Given the description of an element on the screen output the (x, y) to click on. 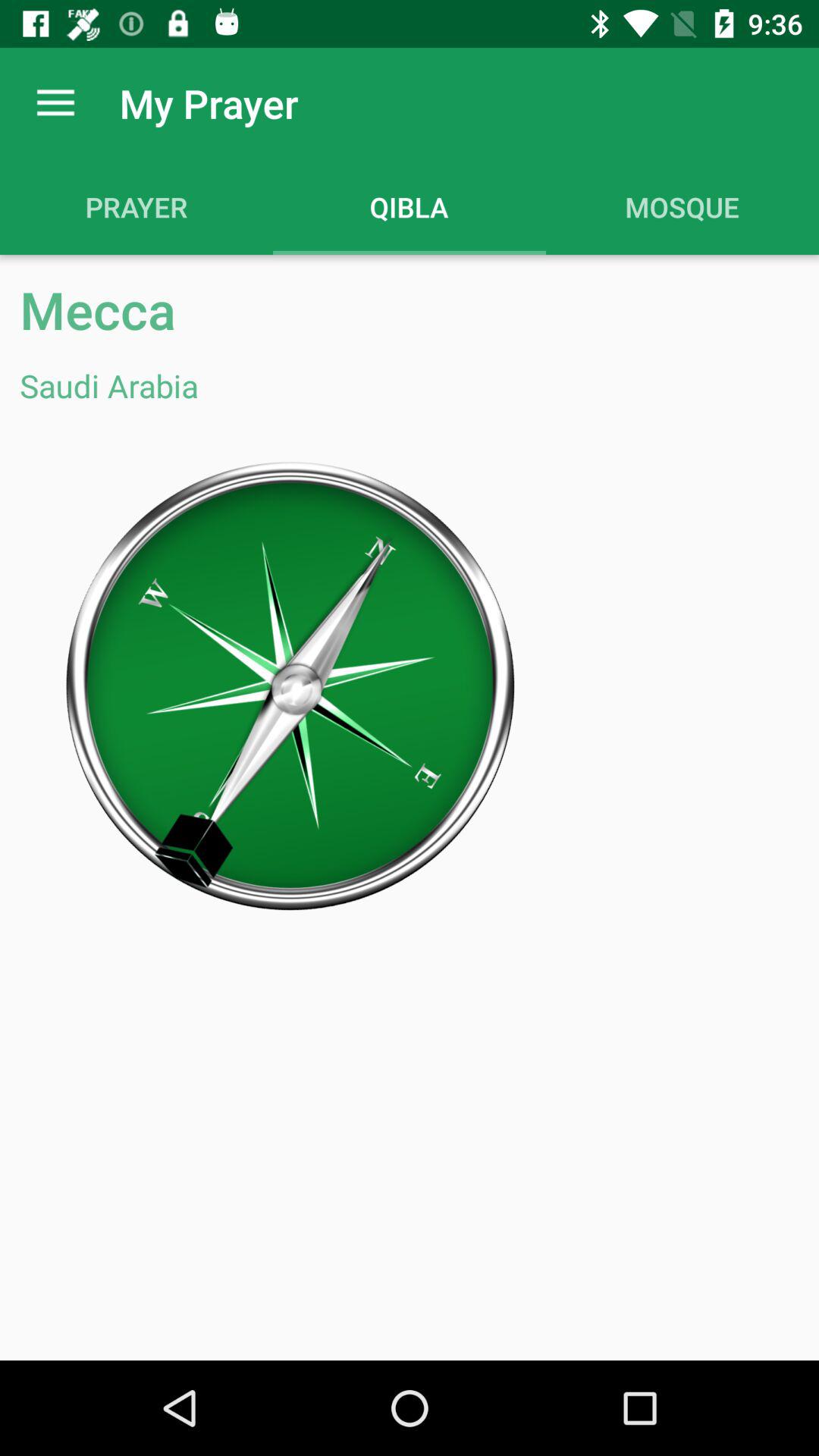
tap the icon above the prayer item (55, 103)
